Given the description of an element on the screen output the (x, y) to click on. 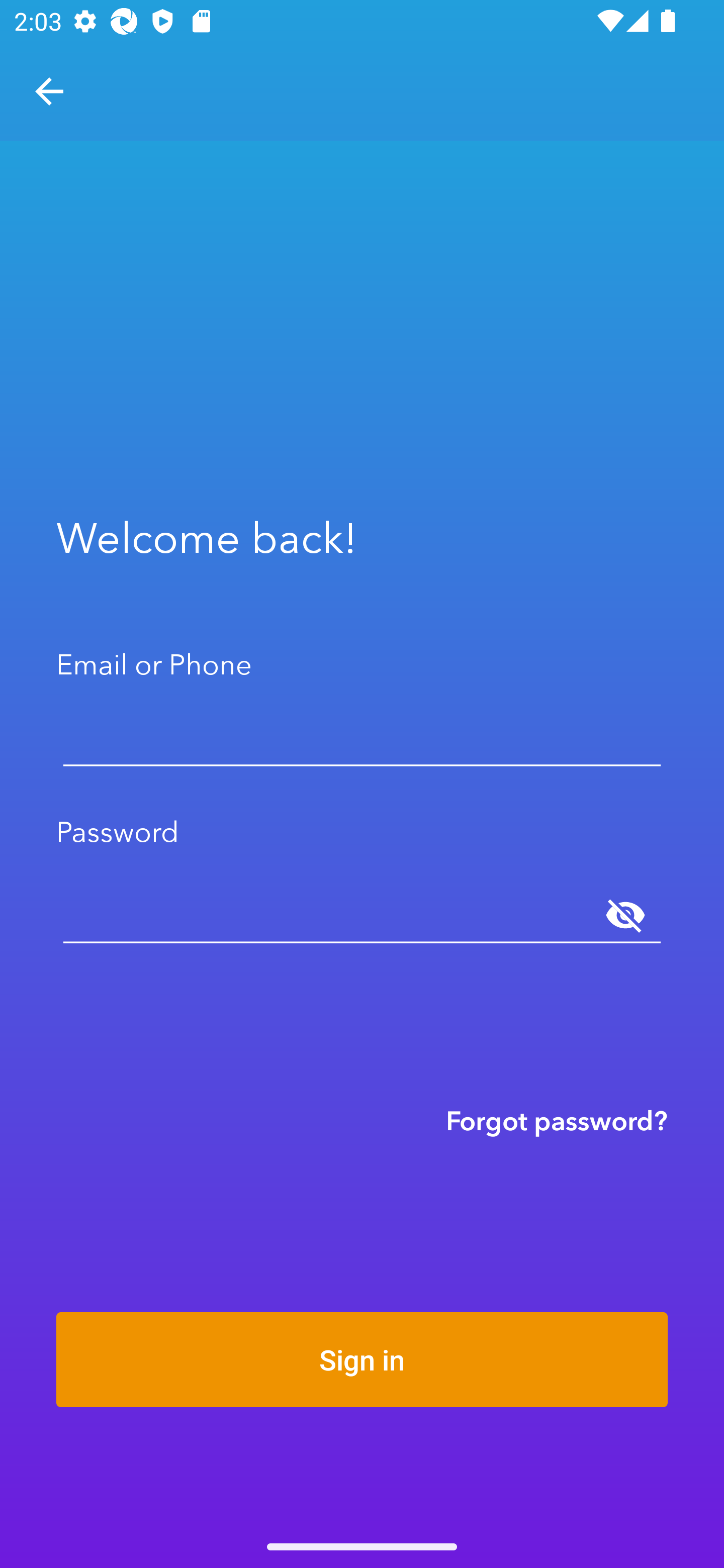
Navigate up (49, 91)
Show password (625, 915)
Forgot password? (556, 1119)
Sign in (361, 1359)
